Given the description of an element on the screen output the (x, y) to click on. 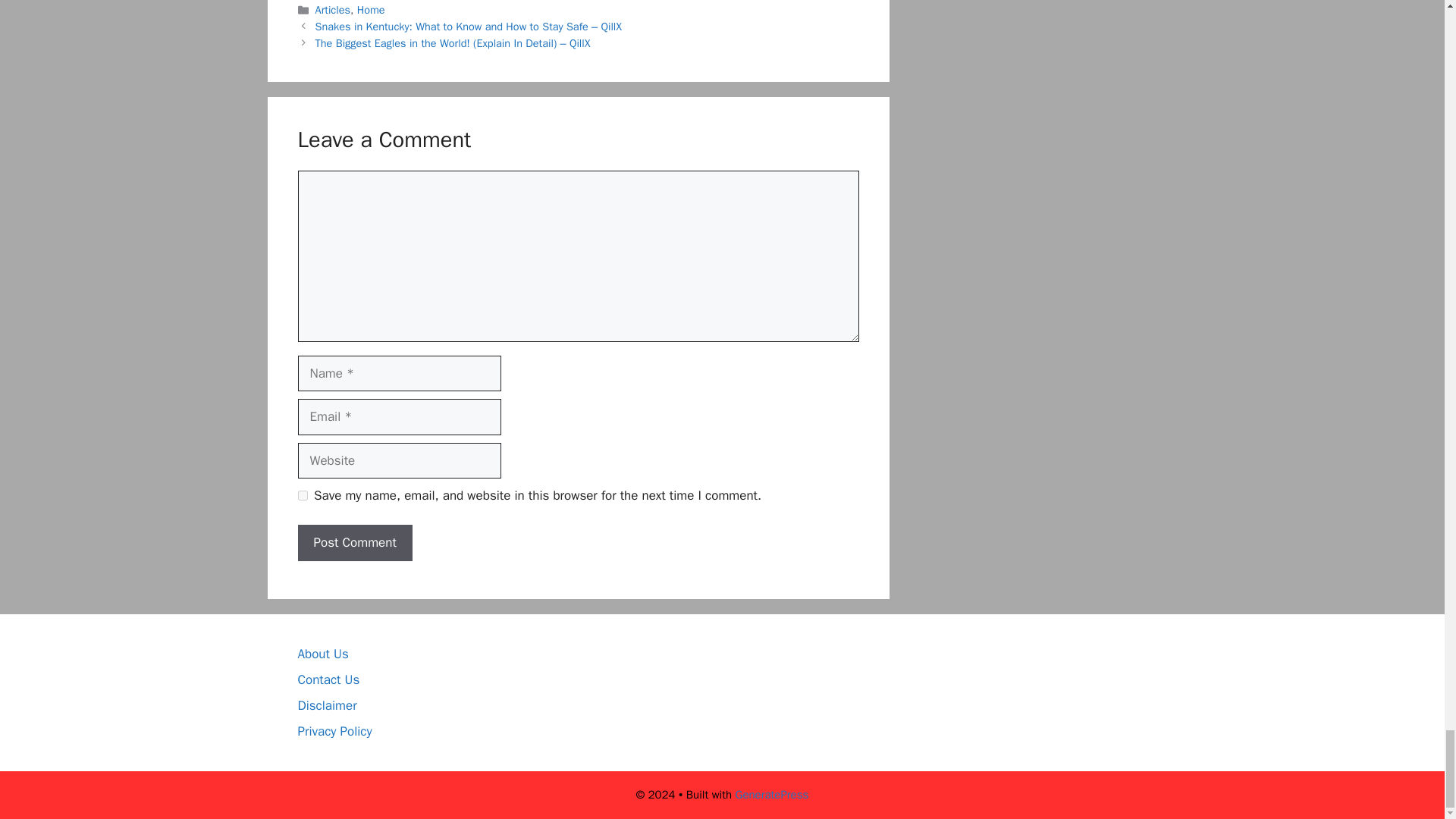
Post Comment (354, 542)
Home (370, 9)
yes (302, 495)
Post Comment (354, 542)
Articles (332, 9)
